Given the description of an element on the screen output the (x, y) to click on. 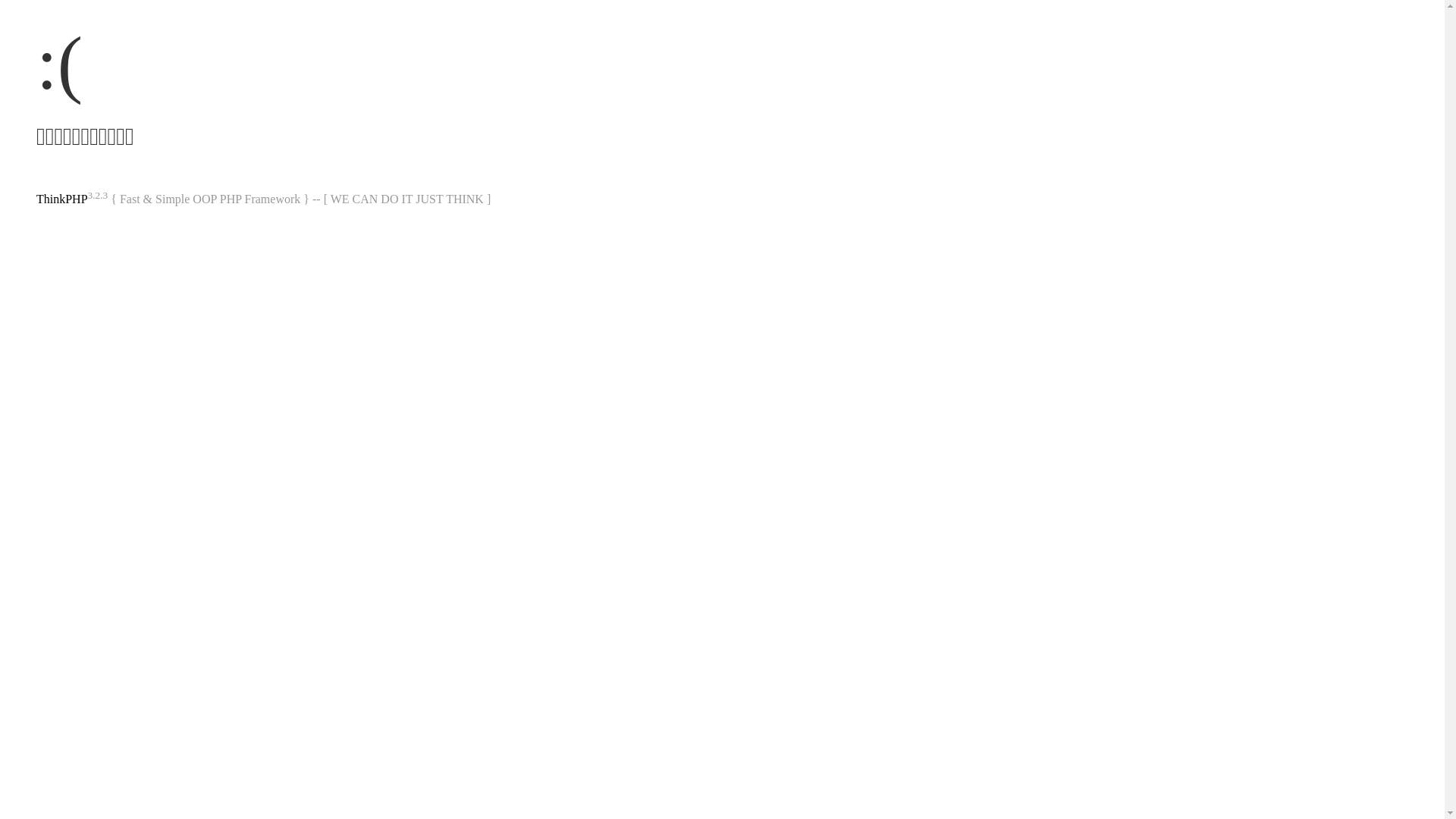
ThinkPHP Element type: text (61, 198)
